Given the description of an element on the screen output the (x, y) to click on. 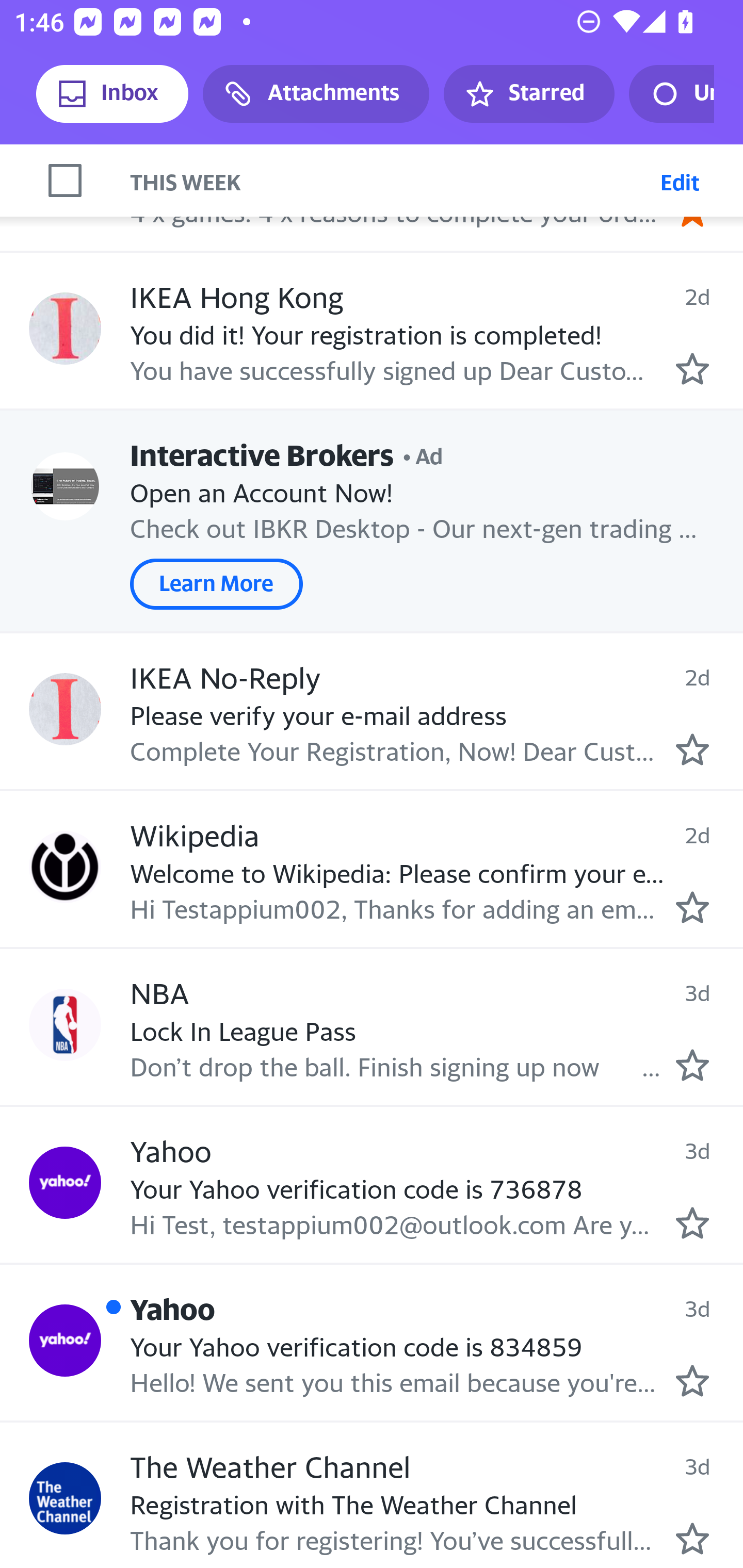
Attachments (315, 93)
Starred (528, 93)
Profile
NBA (64, 175)
Profile
IKEA Hong Kong (64, 329)
Mark as starred. (692, 369)
Profile
IKEA No-Reply (64, 708)
Mark as starred. (692, 748)
Profile
Wikipedia (64, 867)
Mark as starred. (692, 907)
Profile
NBA (64, 1025)
Mark as starred. (692, 1065)
Profile
Yahoo (64, 1182)
Mark as starred. (692, 1222)
Profile
Yahoo (64, 1340)
Mark as starred. (692, 1380)
Profile
The Weather Channel (64, 1498)
Mark as starred. (692, 1538)
